Given the description of an element on the screen output the (x, y) to click on. 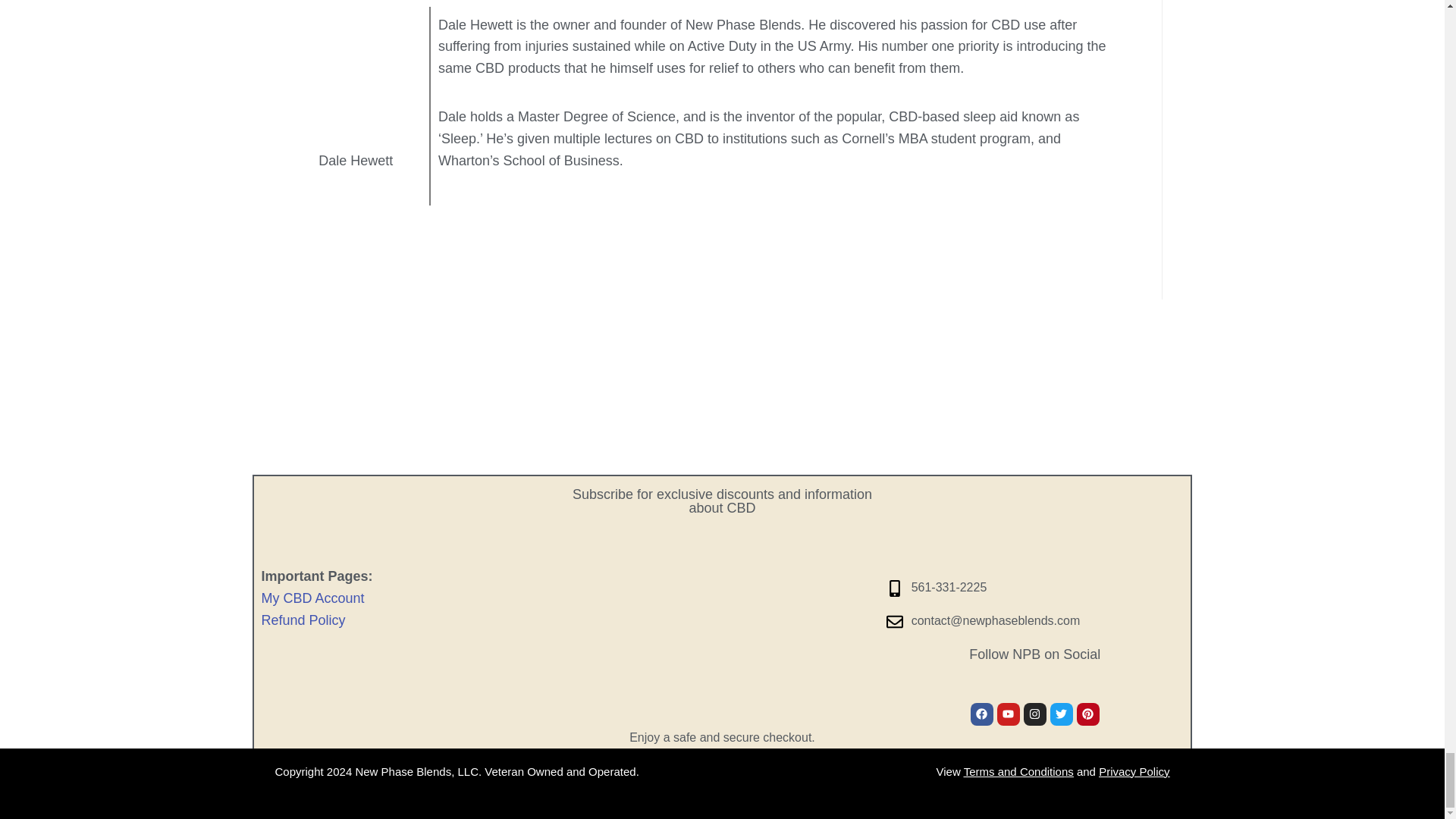
CBD Store New Phase Blends (1034, 529)
